Given the description of an element on the screen output the (x, y) to click on. 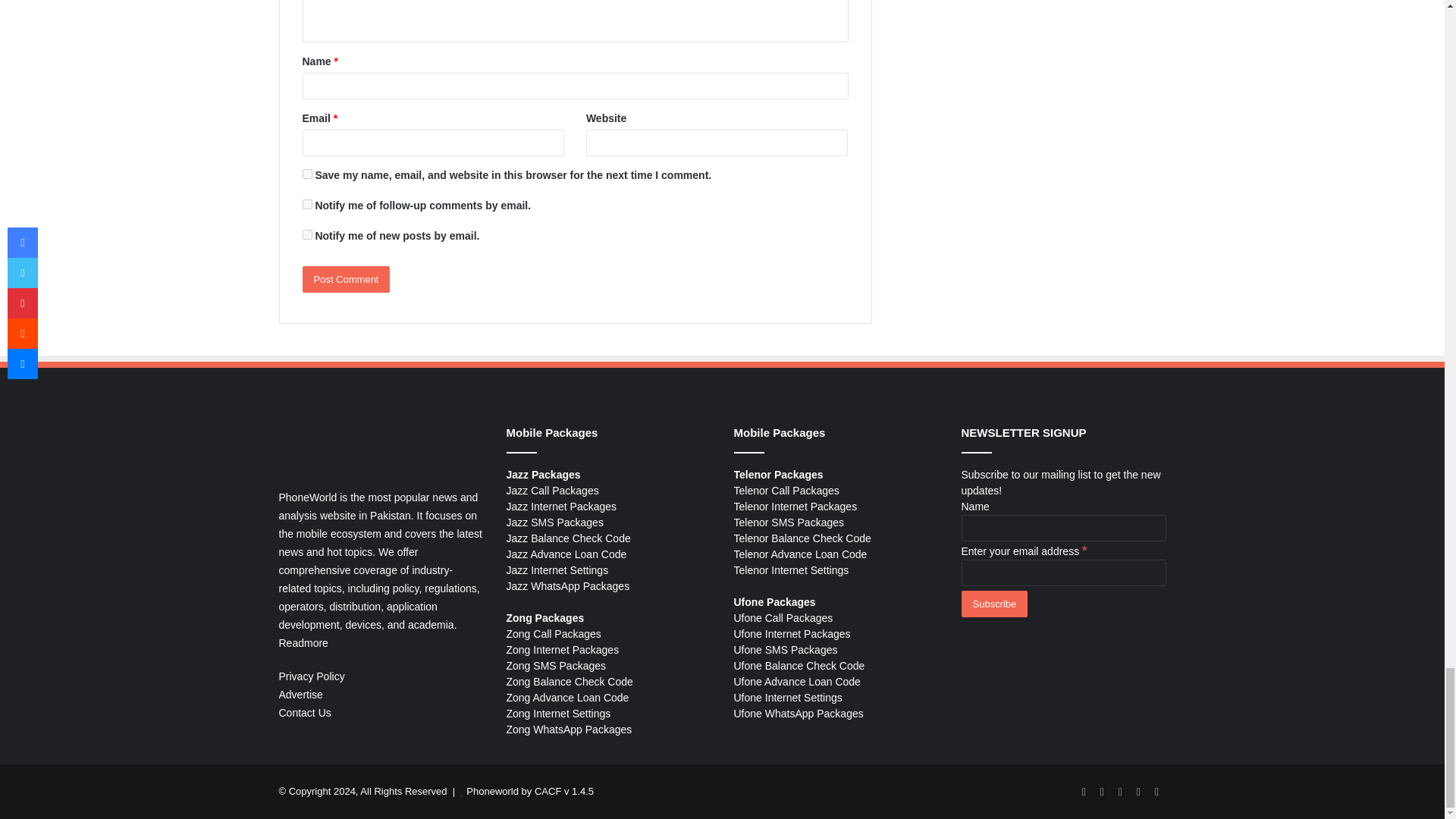
Subscribe (993, 603)
Post Comment (345, 279)
yes (306, 173)
subscribe (306, 204)
subscribe (306, 234)
